Given the description of an element on the screen output the (x, y) to click on. 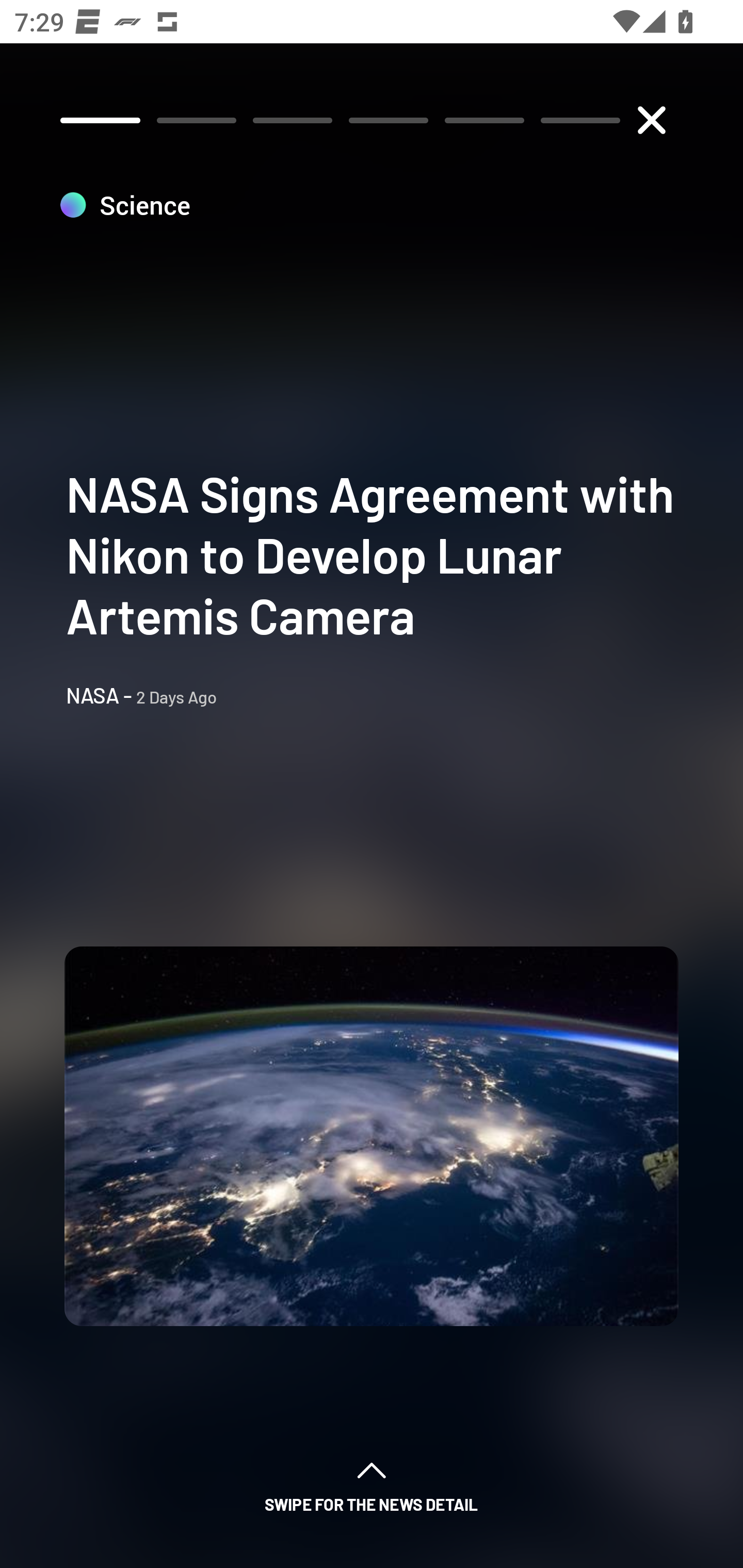
Close Highlights (651, 119)
